Given the description of an element on the screen output the (x, y) to click on. 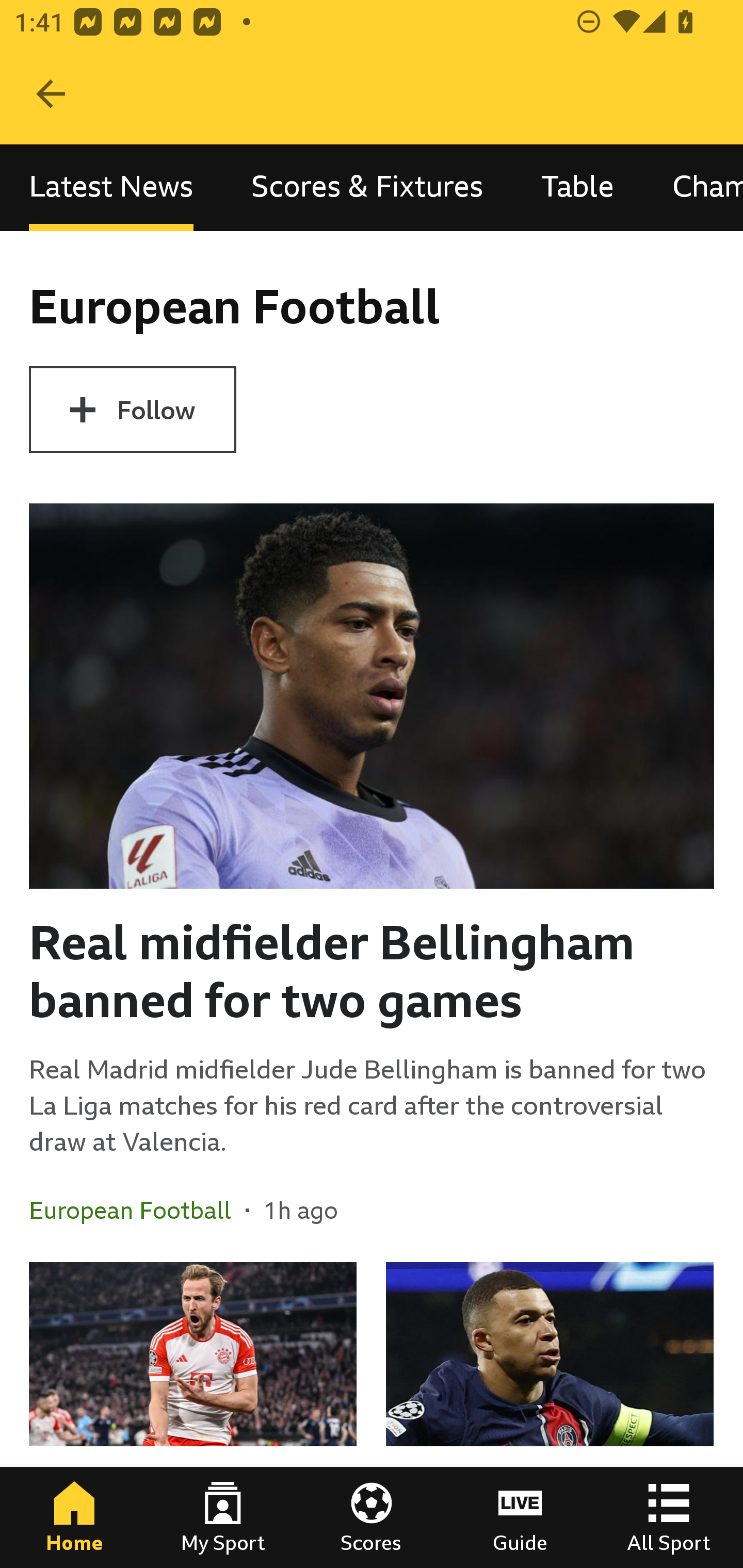
Navigate up (50, 93)
Latest News, selected Latest News (111, 187)
Scores & Fixtures (367, 187)
Table (577, 187)
Champions League (693, 187)
Follow European Football Follow (132, 409)
Kane scores two as stylish Bayern beat Lazio (192, 1415)
Mbappe has 'no problems' with manager Enrique (549, 1415)
My Sport (222, 1517)
Scores (371, 1517)
Guide (519, 1517)
All Sport (668, 1517)
